Given the description of an element on the screen output the (x, y) to click on. 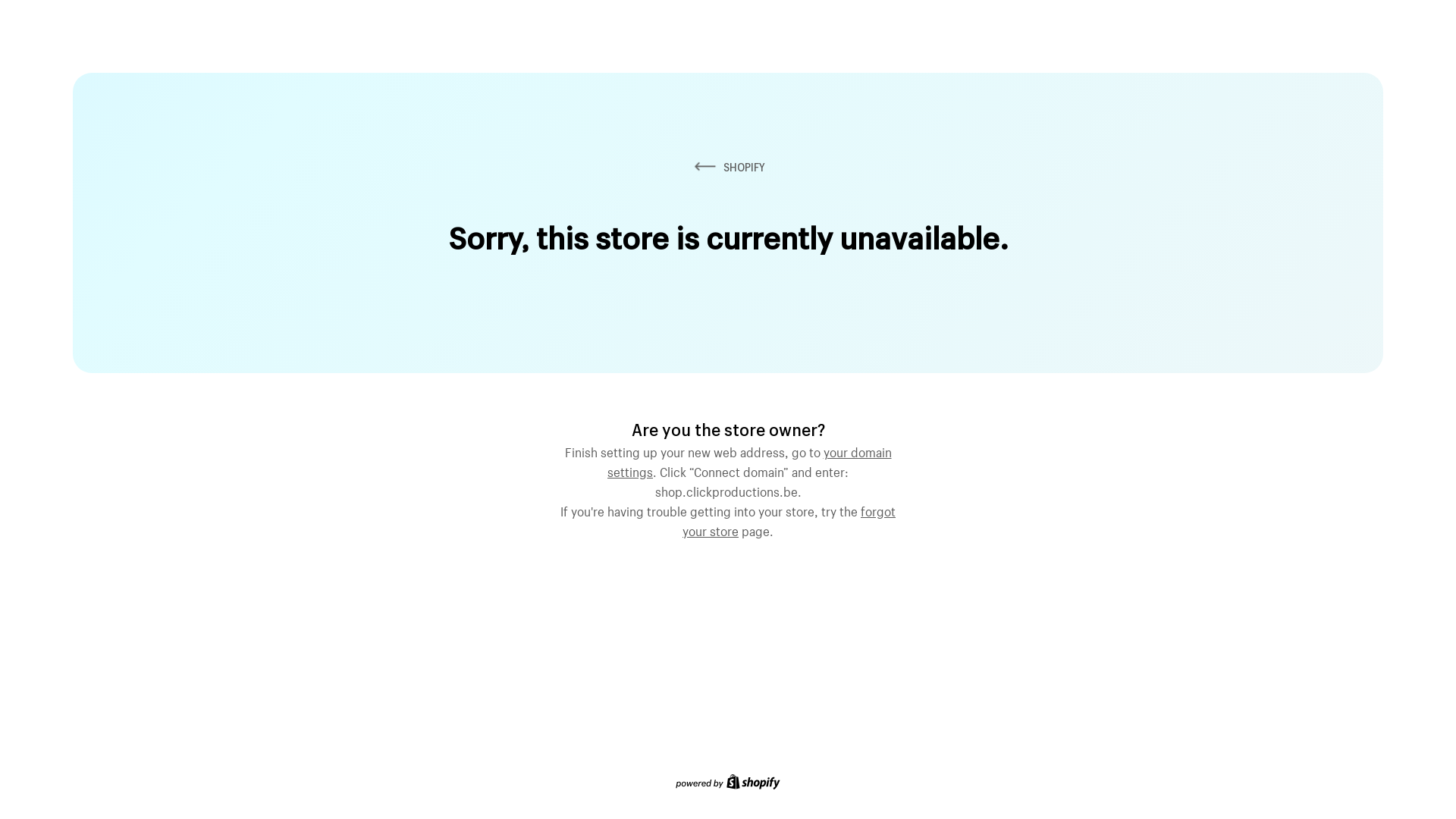
forgot your store Element type: text (788, 519)
your domain settings Element type: text (749, 460)
SHOPIFY Element type: text (727, 167)
